Given the description of an element on the screen output the (x, y) to click on. 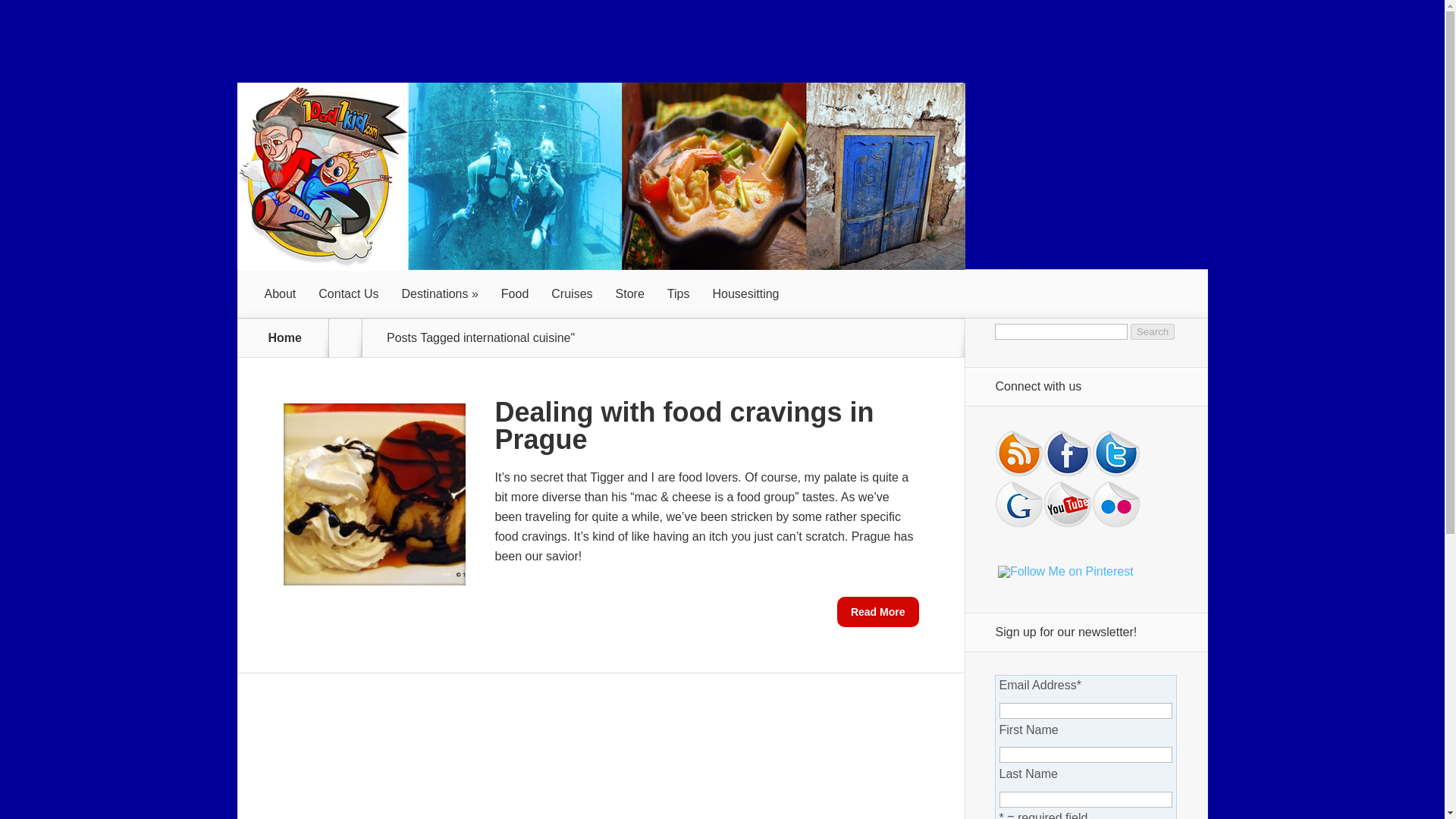
Subscribe (1018, 453)
Search (1152, 331)
Twitter (1116, 453)
Google Plus (1018, 503)
Facebook (1067, 453)
Flickr Gallery (1116, 503)
Our YouTube channel (1067, 503)
